Given the description of an element on the screen output the (x, y) to click on. 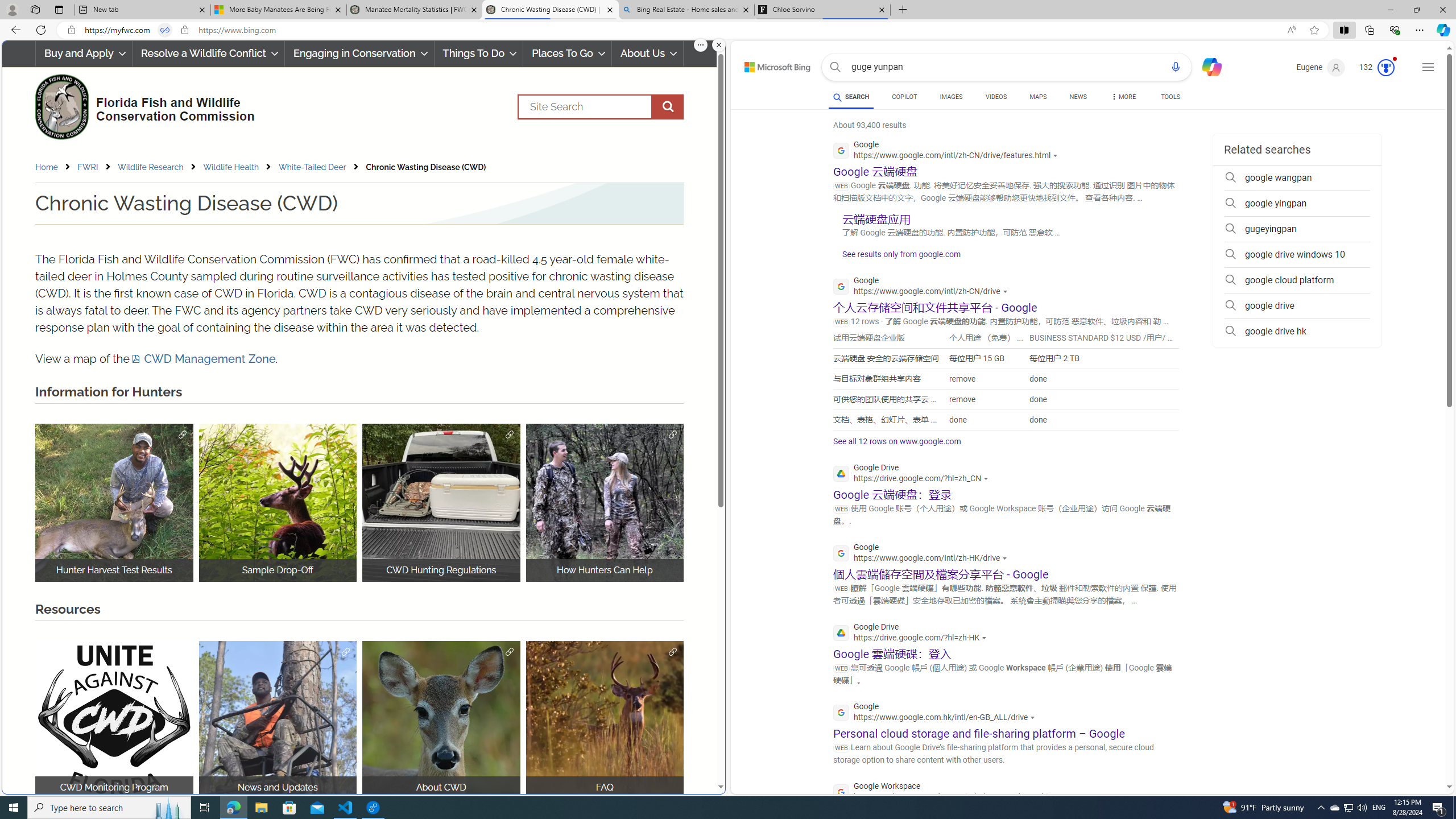
Address and search bar (680, 29)
Buy and Apply (83, 53)
IMAGES (950, 98)
App bar (728, 29)
Sample Drop-Off (277, 502)
Google Workspace (950, 793)
Wildlife Health (239, 166)
News and Updates (277, 720)
Class: outer-circle-animation (1385, 67)
Actions for this site (1061, 797)
gugeyingpan (1297, 229)
Places To Go (566, 53)
